Given the description of an element on the screen output the (x, y) to click on. 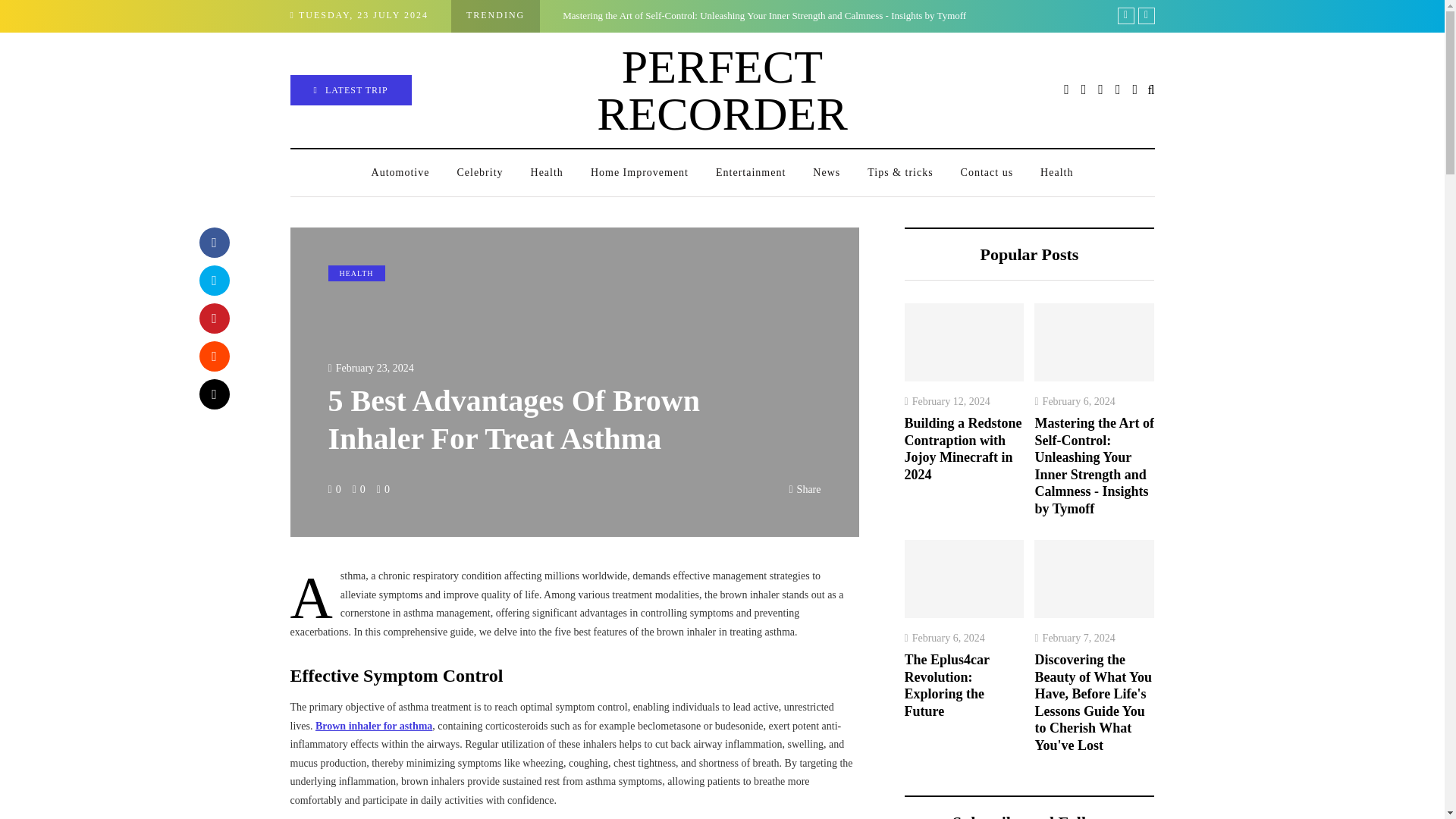
Share with Facebook (213, 242)
Share on Reddit (213, 356)
HEALTH (355, 273)
Share by Email (213, 394)
Health (546, 172)
Entertainment (750, 172)
Celebrity (479, 172)
Contact us (987, 172)
Home Improvement (638, 172)
LATEST TRIP (349, 90)
Tweet this (213, 280)
Pin this (213, 318)
Brown inhaler for asthma (373, 726)
Automotive (401, 172)
